Given the description of an element on the screen output the (x, y) to click on. 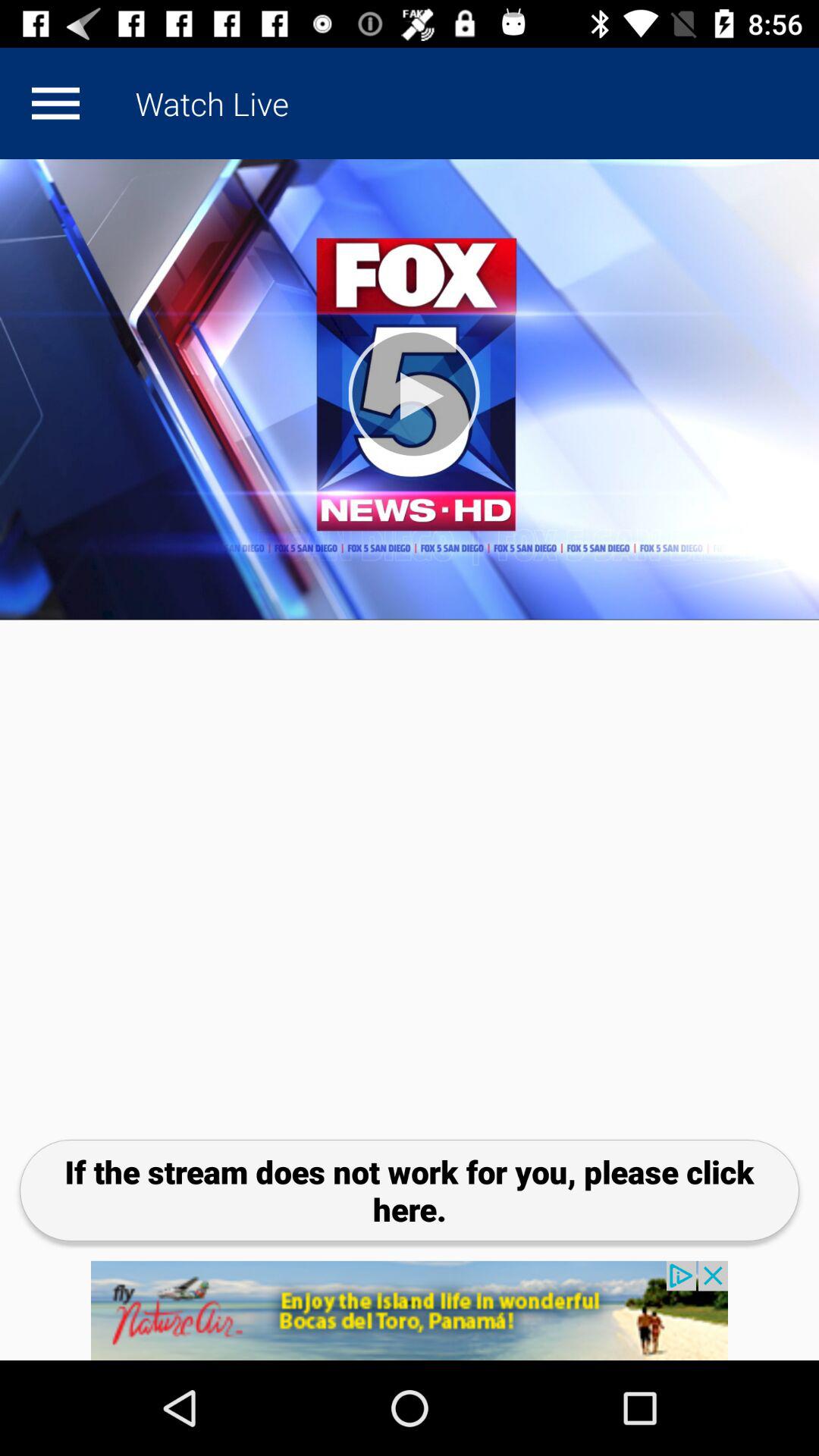
view advertisement (409, 1310)
